Given the description of an element on the screen output the (x, y) to click on. 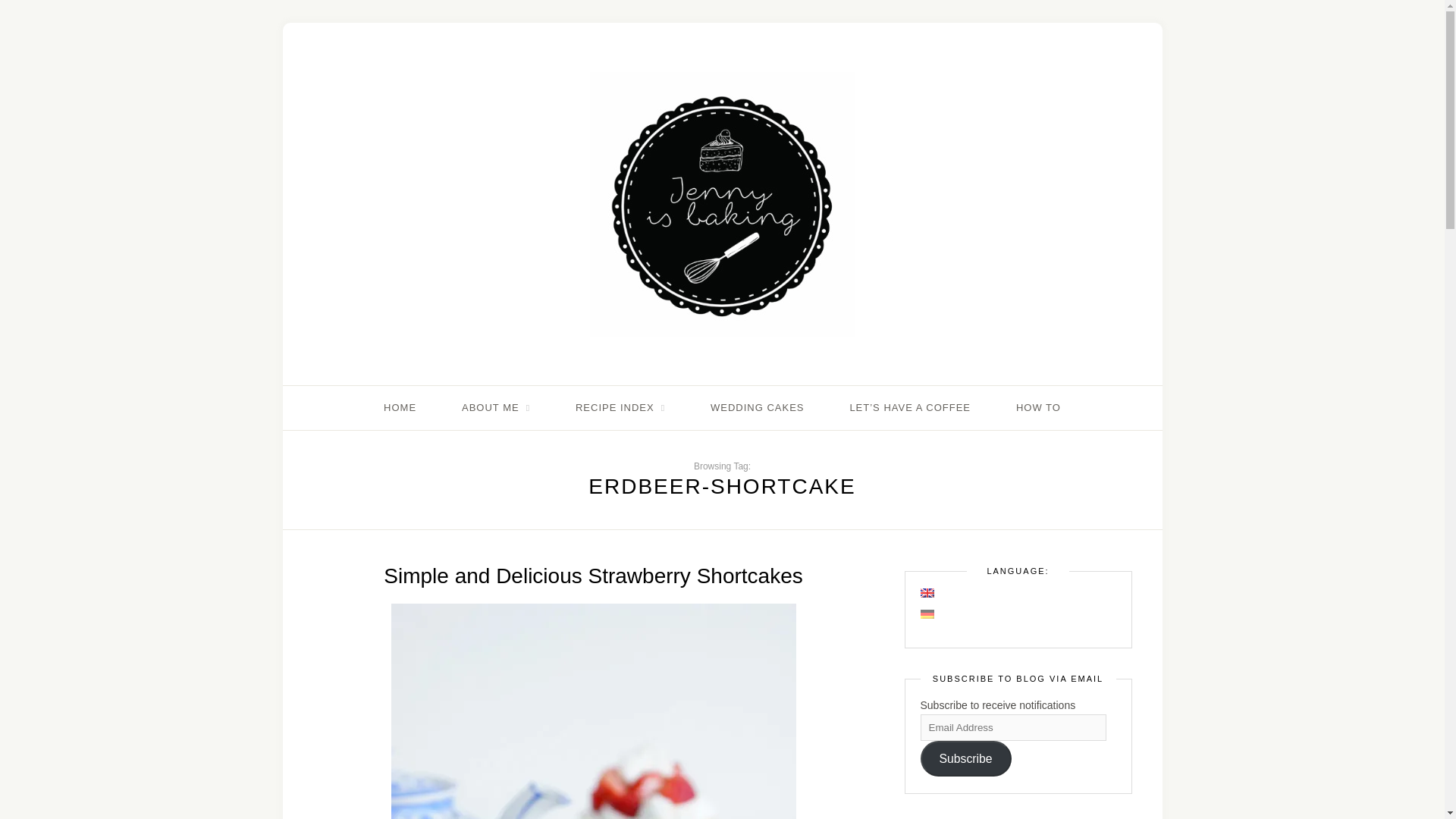
ABOUT ME (495, 407)
Simple and Delicious Strawberry Shortcakes (593, 576)
HOW TO (1038, 407)
WEDDING CAKES (757, 407)
RECIPE INDEX (620, 407)
